Given the description of an element on the screen output the (x, y) to click on. 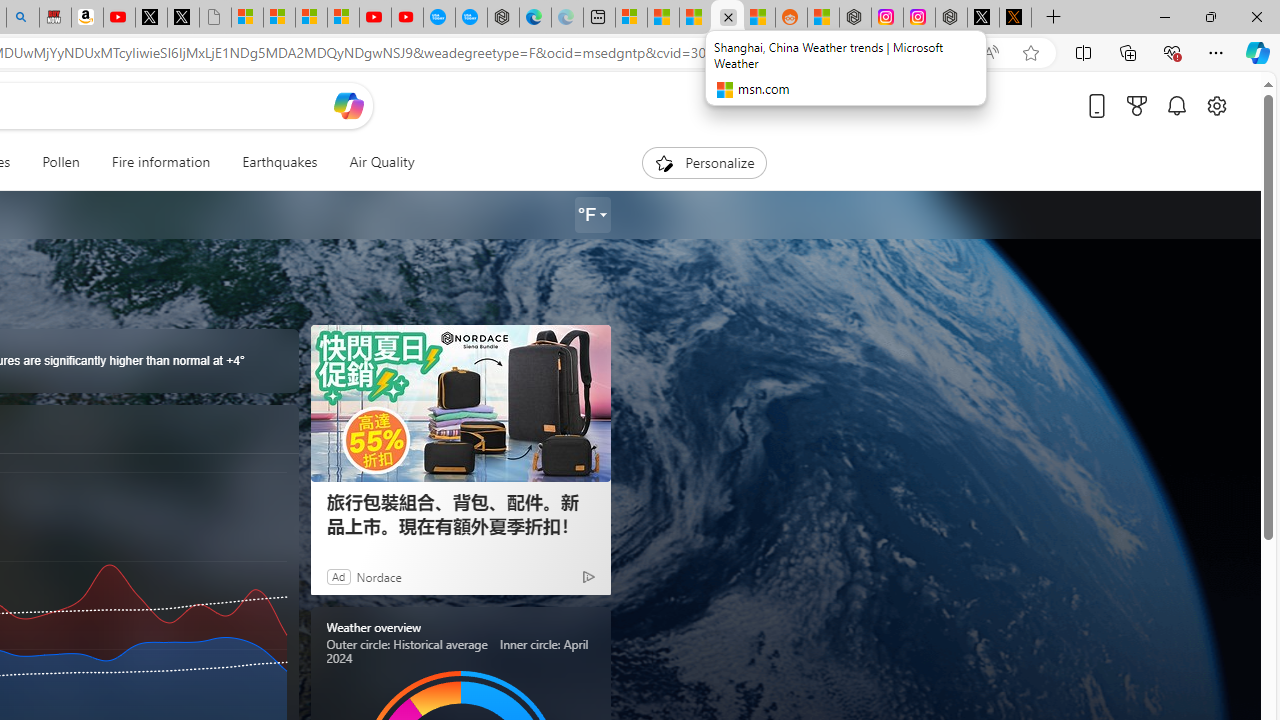
YouTube Kids - An App Created for Kids to Explore Content (407, 17)
App available. Install Microsoft Start Weather (950, 53)
help.x.com | 524: A timeout occurred (1014, 17)
Weather settings (591, 215)
Open settings (1216, 105)
Nordace - Nordace has arrived Hong Kong (502, 17)
